Given the description of an element on the screen output the (x, y) to click on. 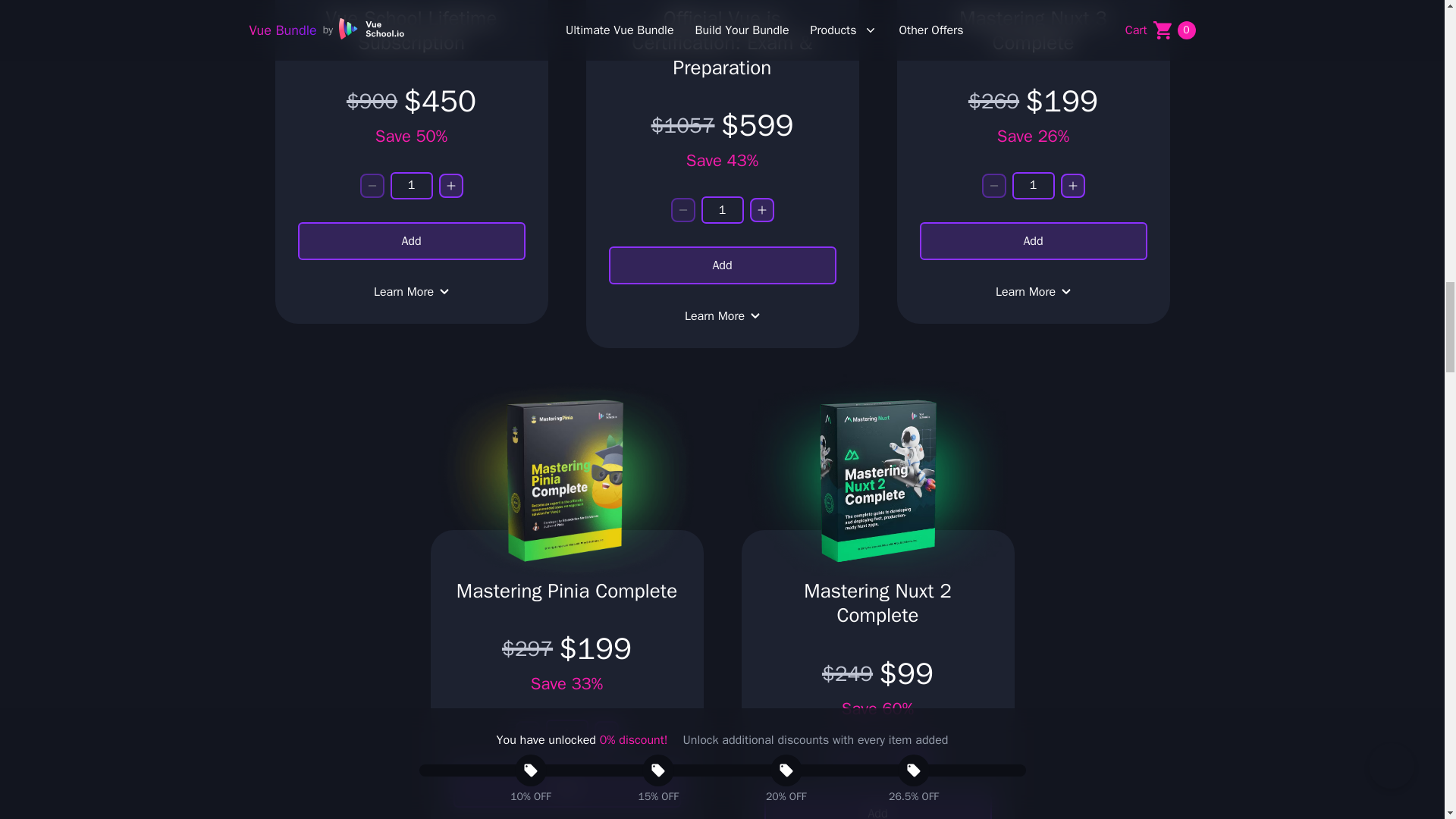
Learn More (722, 316)
Add (566, 788)
1 (721, 209)
1 (878, 758)
Learn More (1032, 291)
1 (567, 732)
Learn More (411, 291)
Add (721, 265)
1 (1032, 185)
1 (411, 185)
Add (410, 240)
Add (1032, 240)
